Given the description of an element on the screen output the (x, y) to click on. 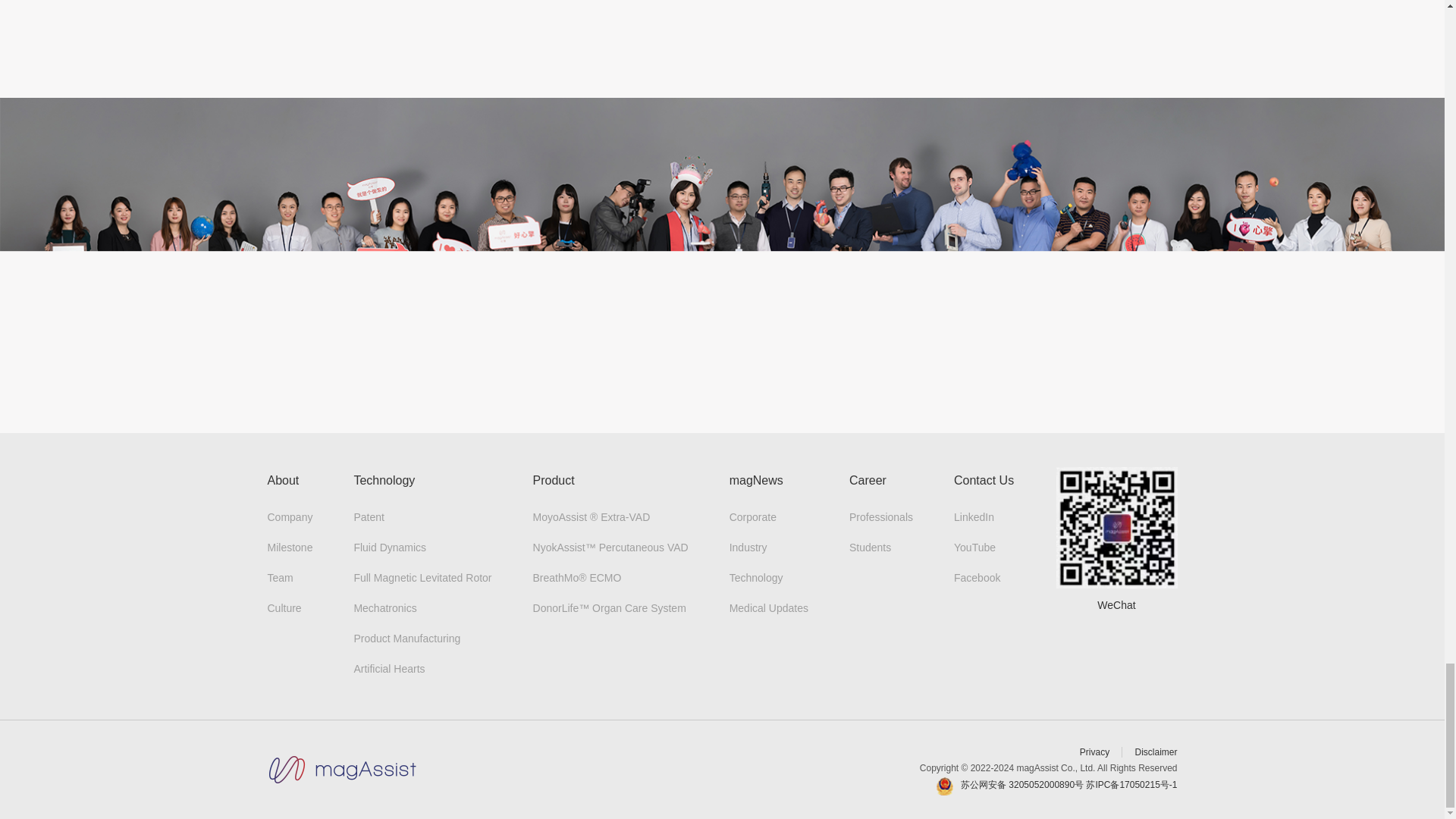
YouTube (974, 547)
Full Magnetic Levitated Rotor (422, 577)
Fluid Dynamics (389, 547)
Culture (283, 607)
Mechatronics (384, 607)
Corporate (752, 517)
About (282, 480)
Milestone (289, 547)
Product Manufacturing (406, 638)
Product (553, 480)
